Given the description of an element on the screen output the (x, y) to click on. 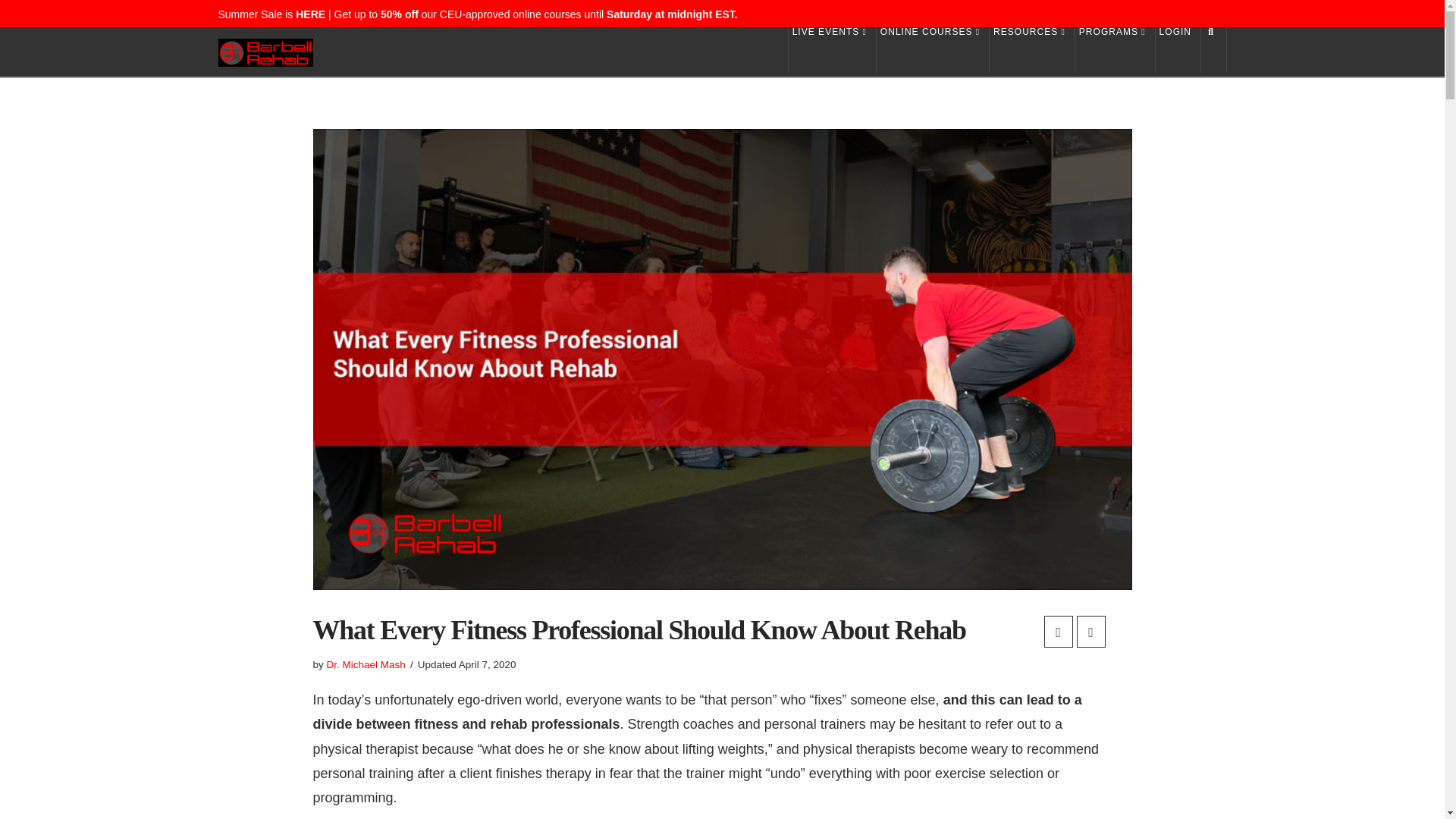
ONLINE COURSES (933, 49)
LIVE EVENTS (831, 49)
